Given the description of an element on the screen output the (x, y) to click on. 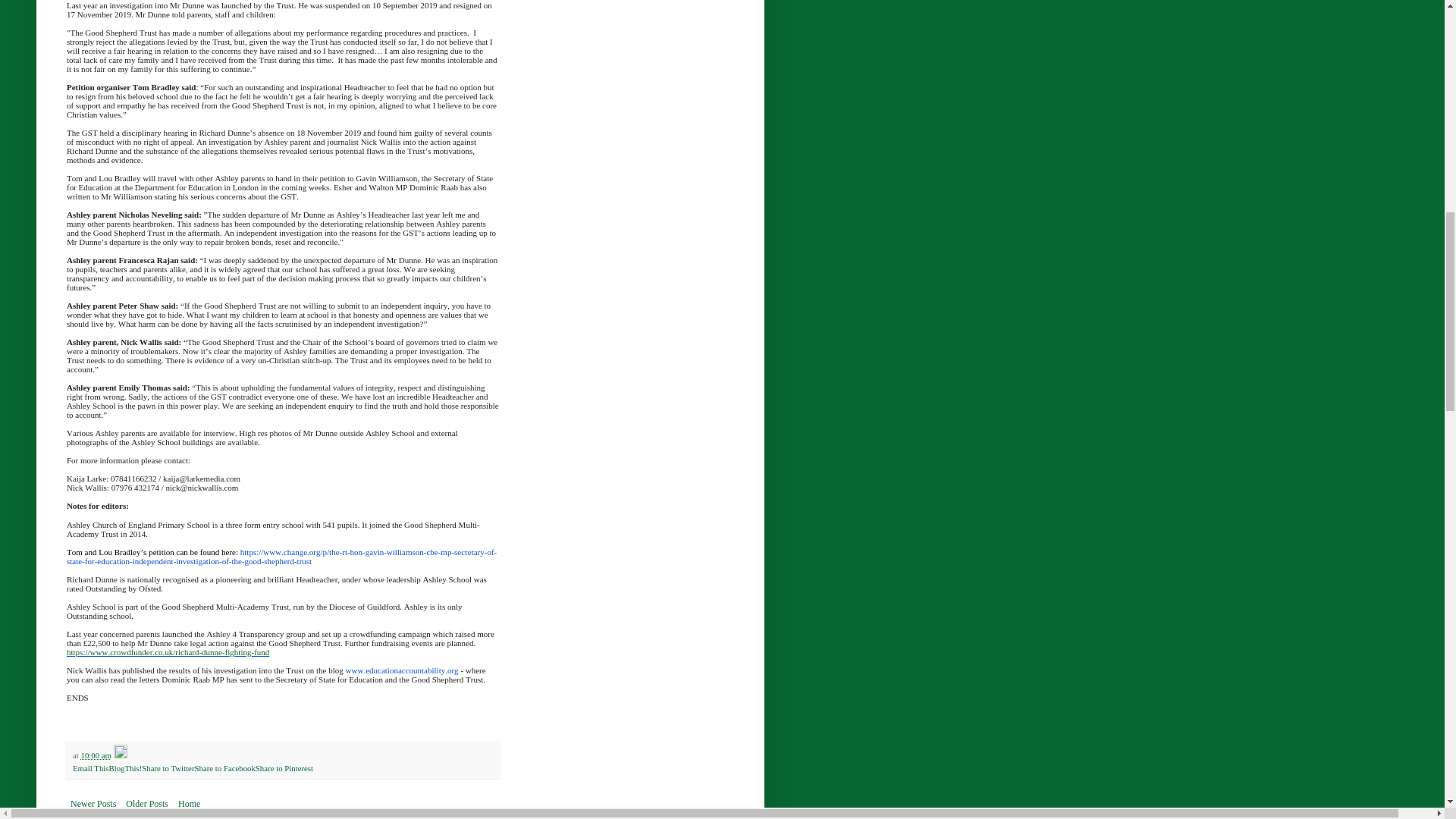
Share to Pinterest (284, 768)
Email This (89, 768)
Home (188, 803)
www.educationaccountability.org (402, 669)
Share to Facebook (223, 768)
Share to Facebook (223, 768)
BlogThis! (124, 768)
BlogThis! (124, 768)
Edit Post (120, 755)
Share to Twitter (167, 768)
